Given the description of an element on the screen output the (x, y) to click on. 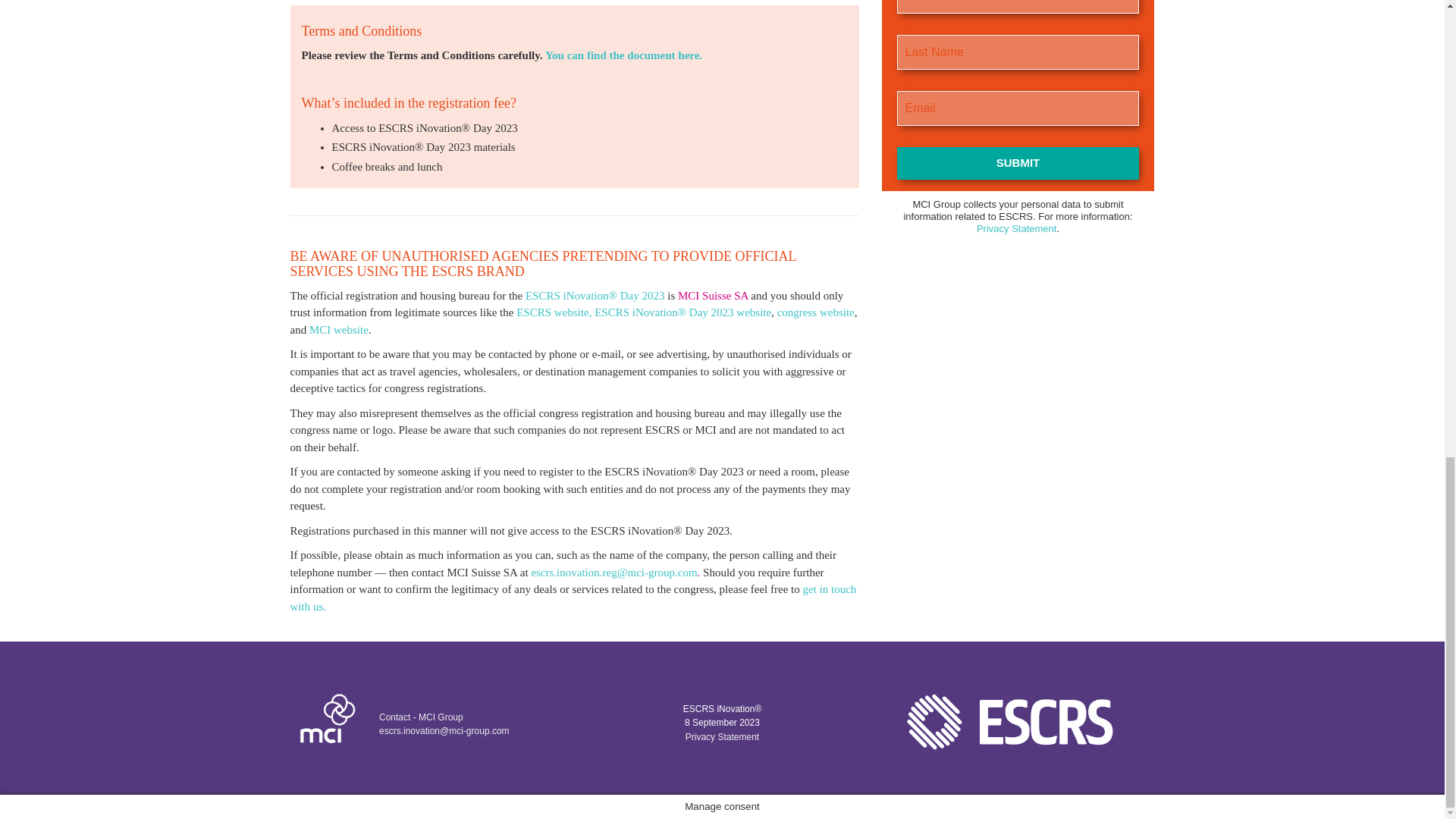
ESCRS website (552, 312)
Privacy Statement (1016, 228)
MCI website (338, 329)
You can find the document here. (622, 55)
Submit (1017, 163)
MCI Suisse SA (713, 295)
Submit (1017, 163)
Privacy Statement (721, 737)
get in touch with us. (572, 597)
congress website (815, 312)
